Given the description of an element on the screen output the (x, y) to click on. 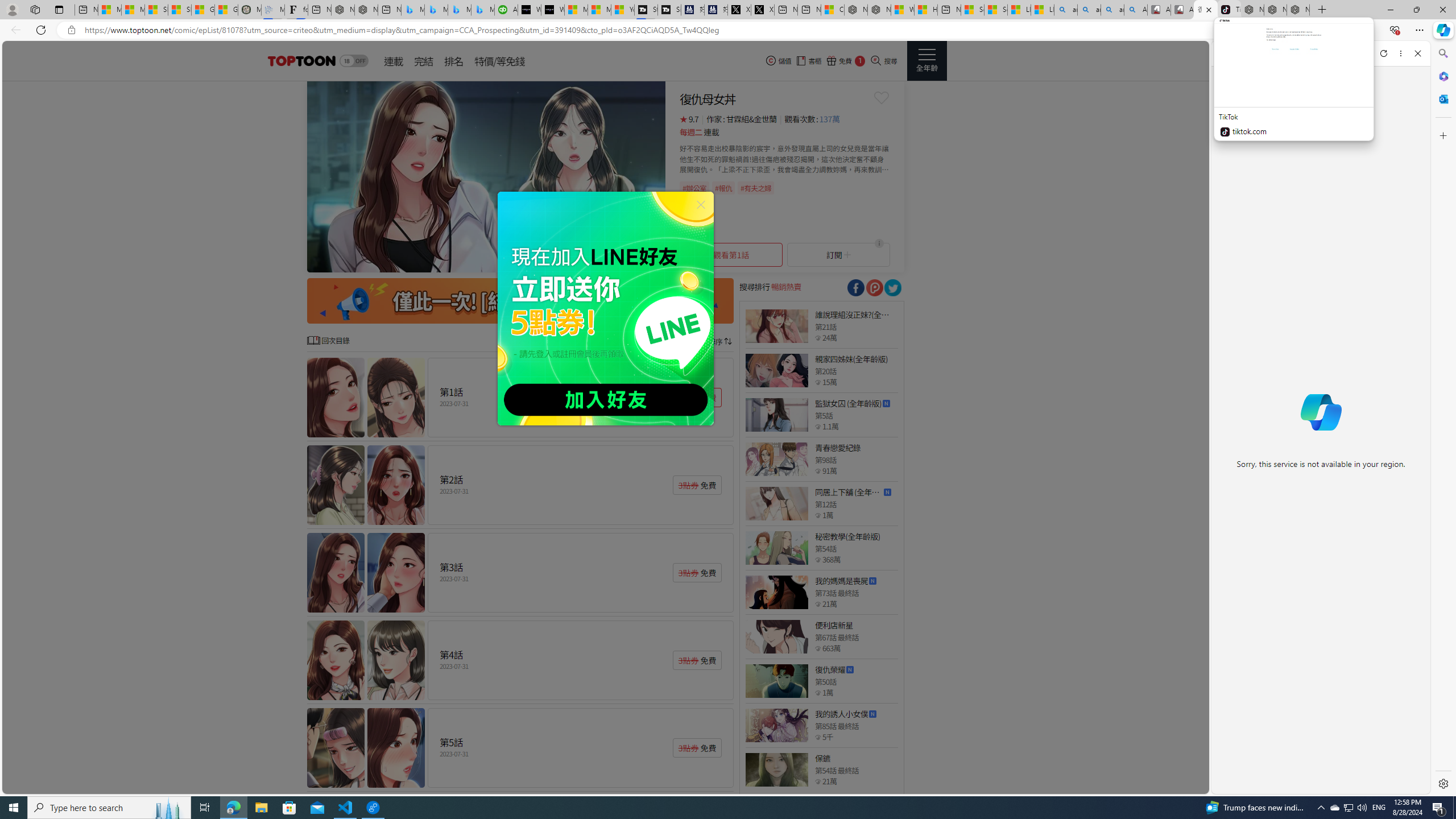
Chat (1231, 52)
header (300, 60)
To get missing image descriptions, open the context menu. (486, 176)
